Given the description of an element on the screen output the (x, y) to click on. 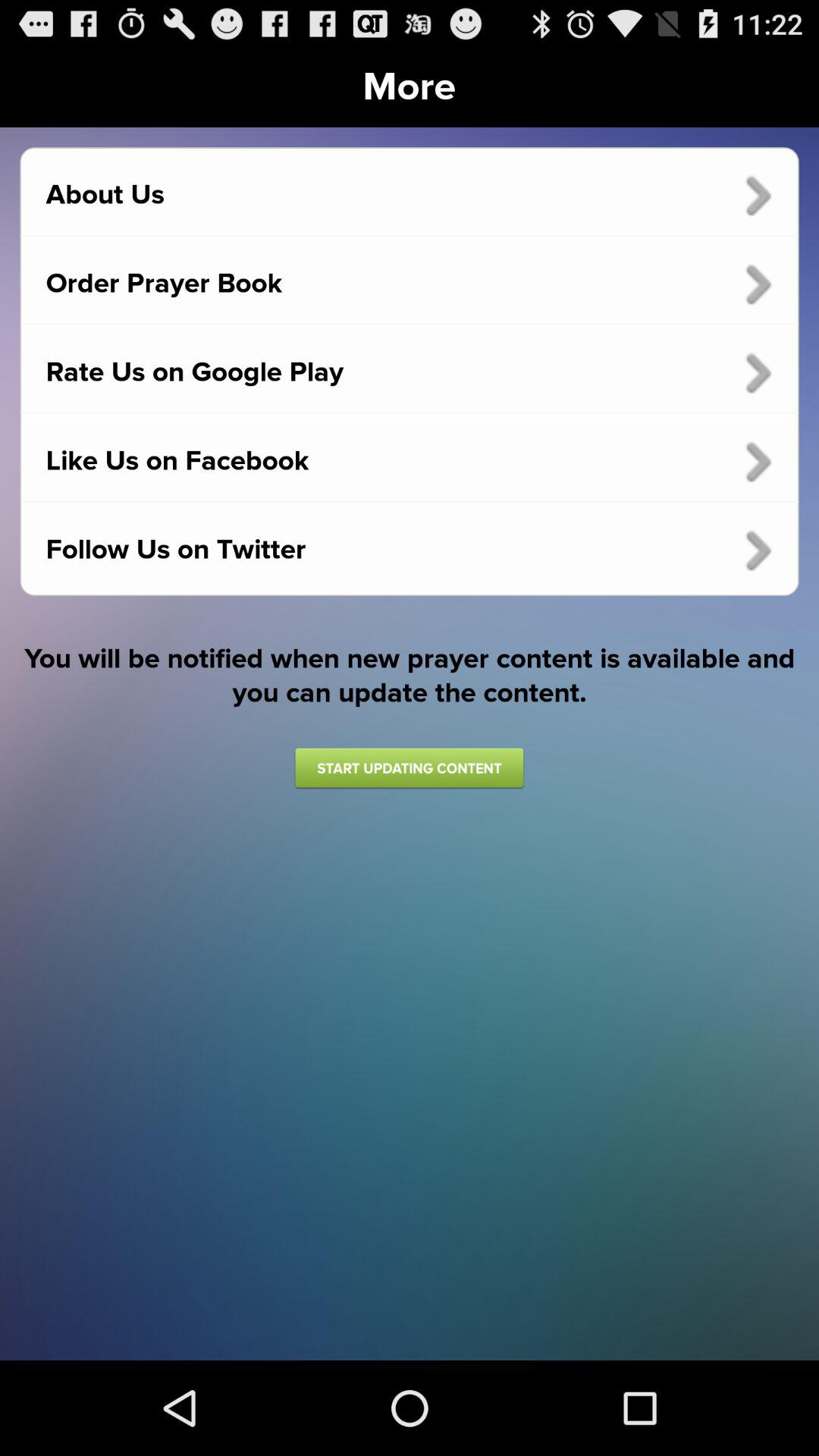
select order prayer book item (409, 283)
